Given the description of an element on the screen output the (x, y) to click on. 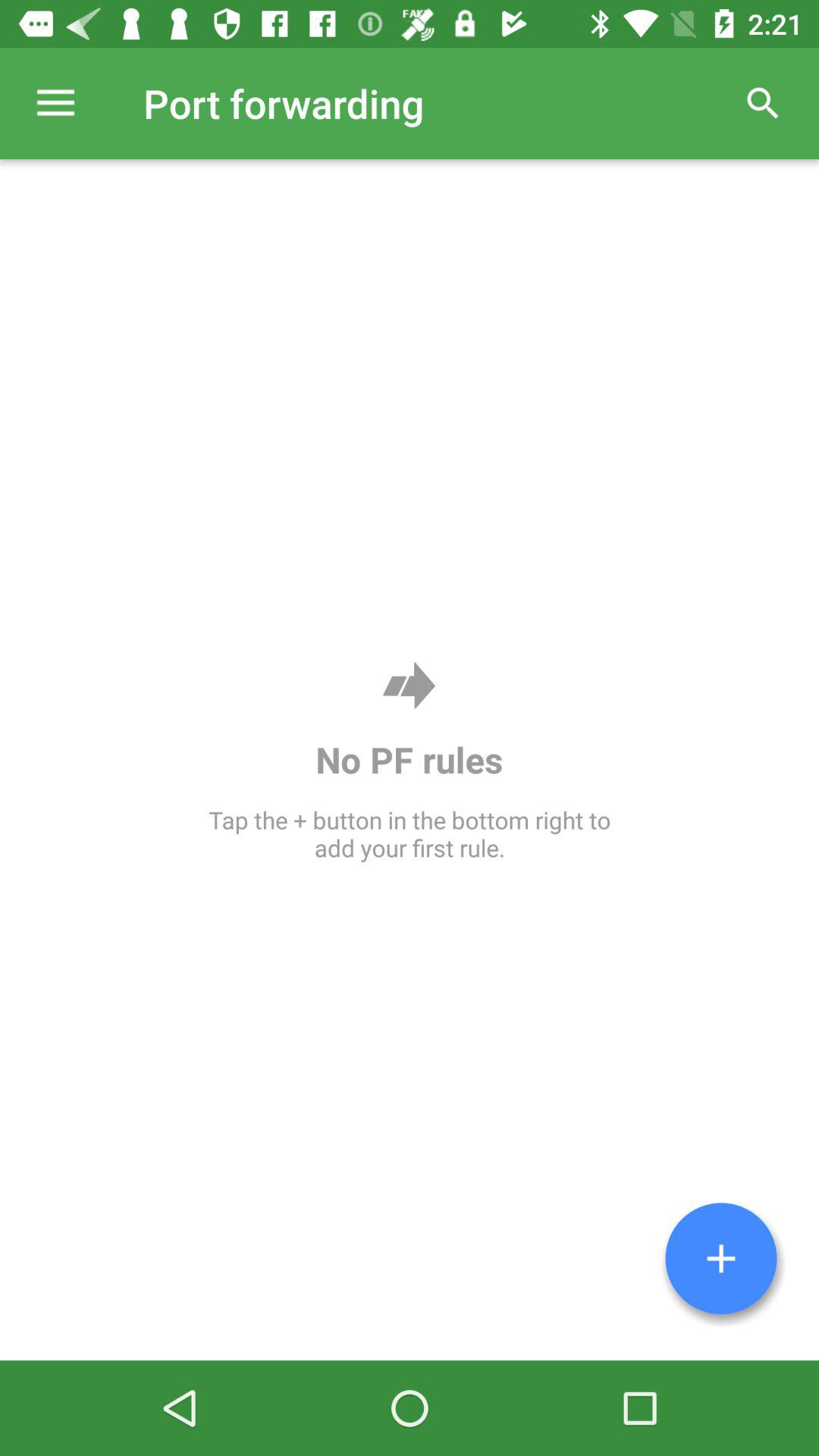
add forwarding rule (721, 1258)
